Given the description of an element on the screen output the (x, y) to click on. 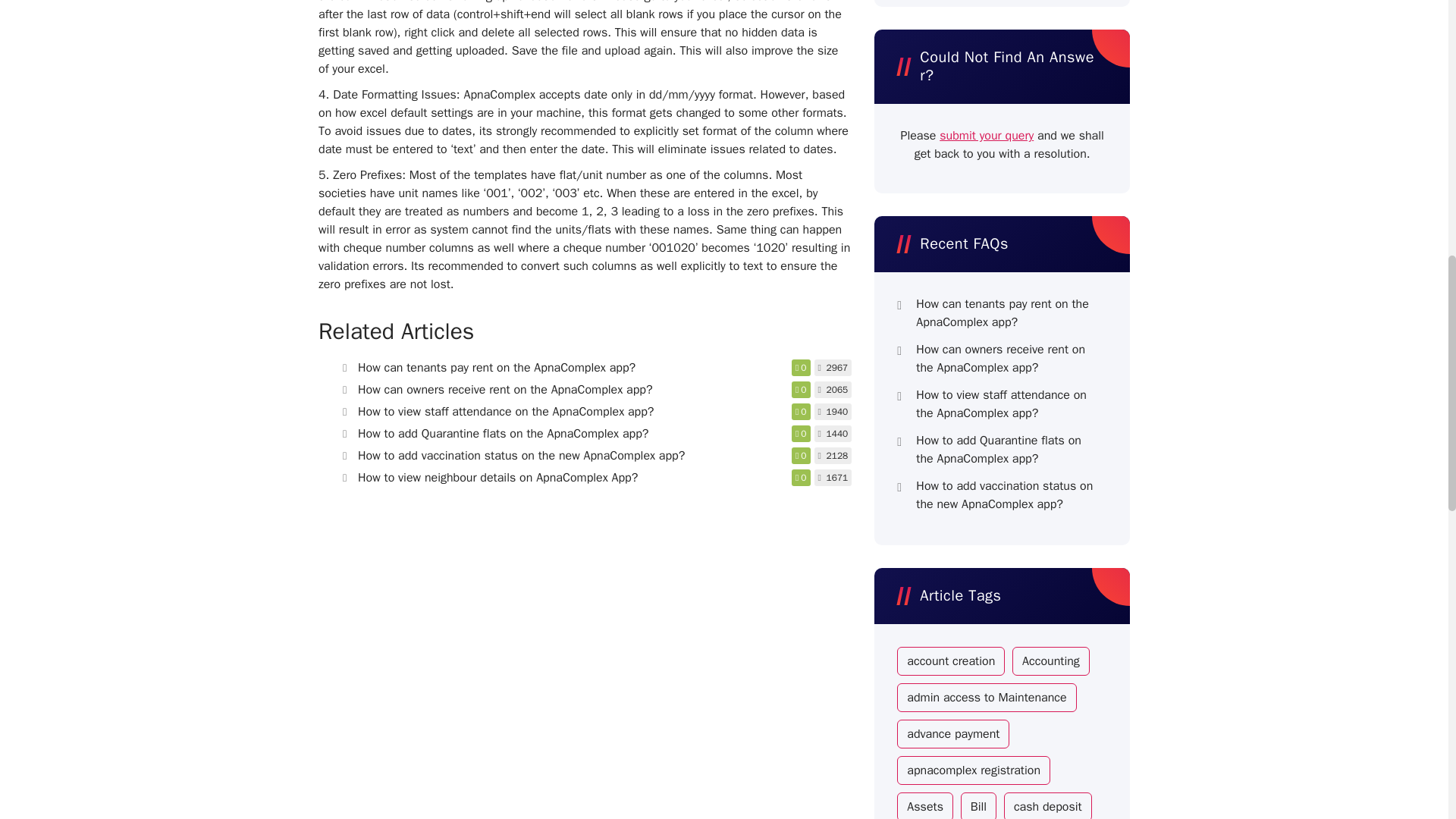
How can owners receive rent on the ApnaComplex app? (1004, 358)
Assets (924, 805)
How can tenants pay rent on the ApnaComplex app? (1004, 312)
How to view neighbour details on ApnaComplex App? (497, 477)
Accounting (1050, 661)
advance payment (952, 733)
How can owners receive rent on the ApnaComplex app? (505, 389)
How to add vaccination status on the new ApnaComplex app? (521, 455)
admin access to Maintenance (985, 697)
cash deposit (1048, 805)
How to view staff attendance on the ApnaComplex app? (1004, 403)
apnacomplex registration (972, 769)
How to add Quarantine flats on the ApnaComplex app? (1004, 449)
How can tenants pay rent on the ApnaComplex app? (496, 367)
How to add Quarantine flats on the ApnaComplex app? (502, 433)
